Given the description of an element on the screen output the (x, y) to click on. 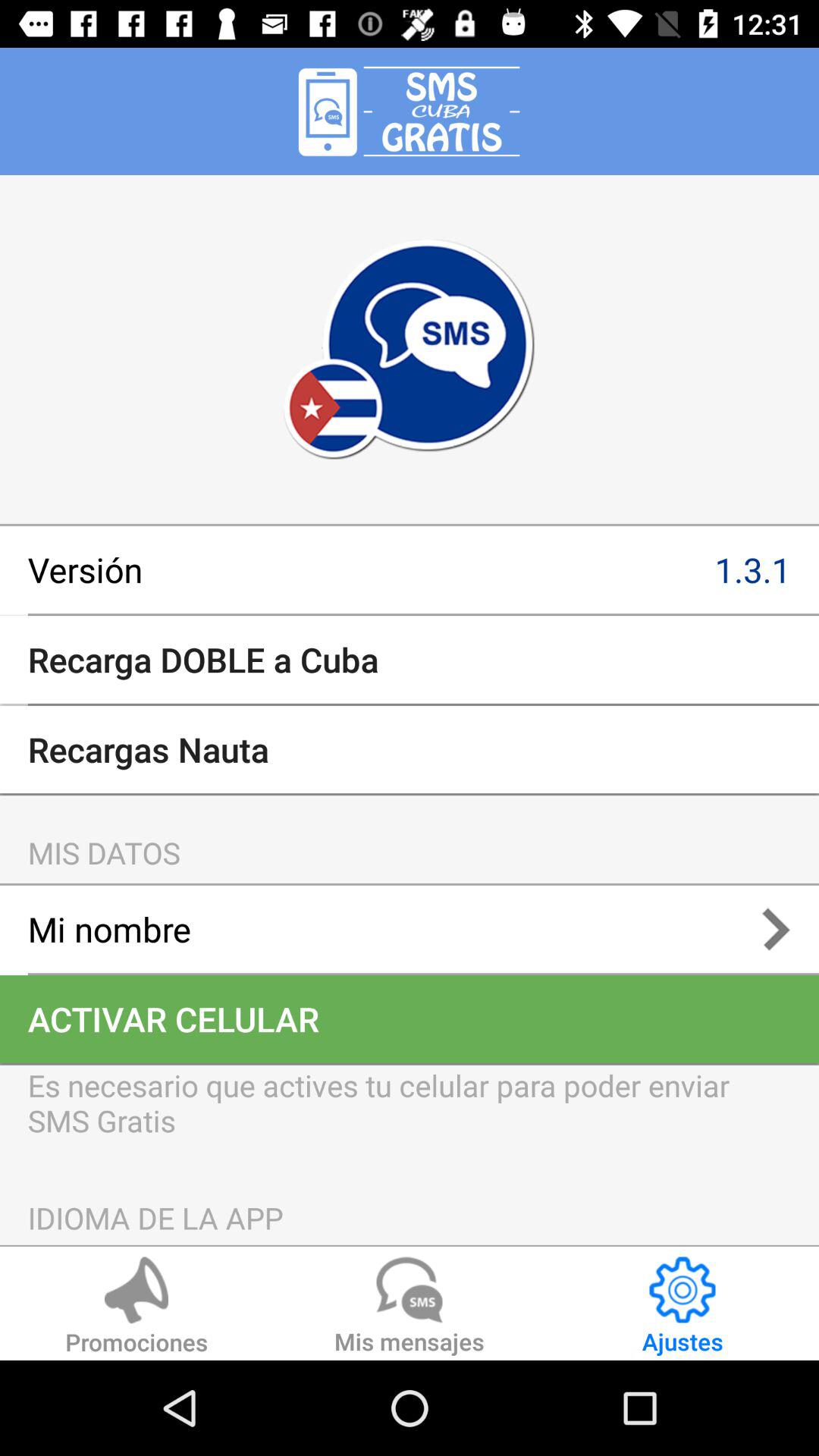
select the button to the left of ajustes (409, 1308)
